Given the description of an element on the screen output the (x, y) to click on. 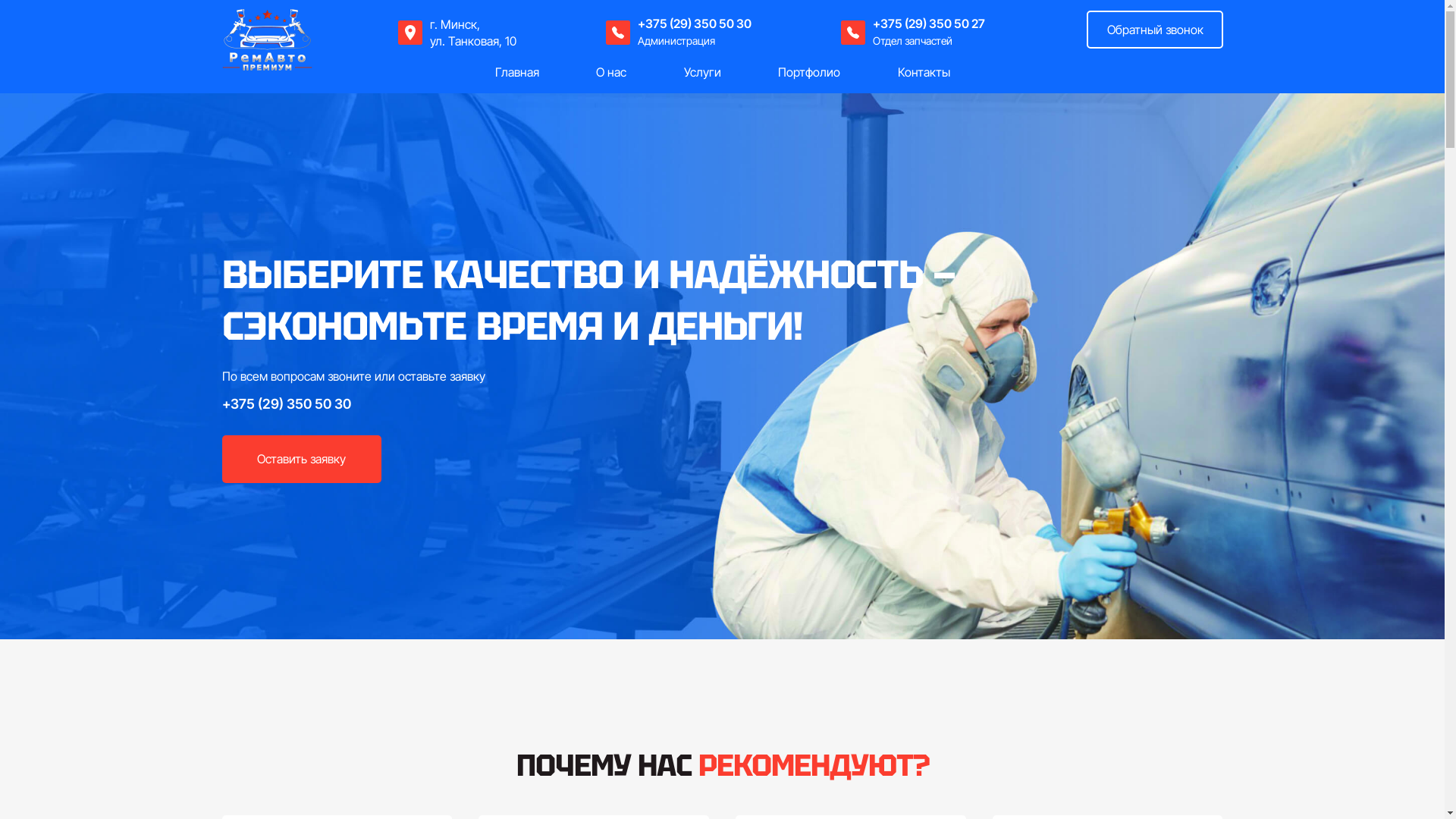
+375 (29) 350 50 30 Element type: text (285, 403)
+375 (29) 350 50 30 Element type: text (694, 23)
+375 (29) 350 50 27 Element type: text (928, 23)
